Given the description of an element on the screen output the (x, y) to click on. 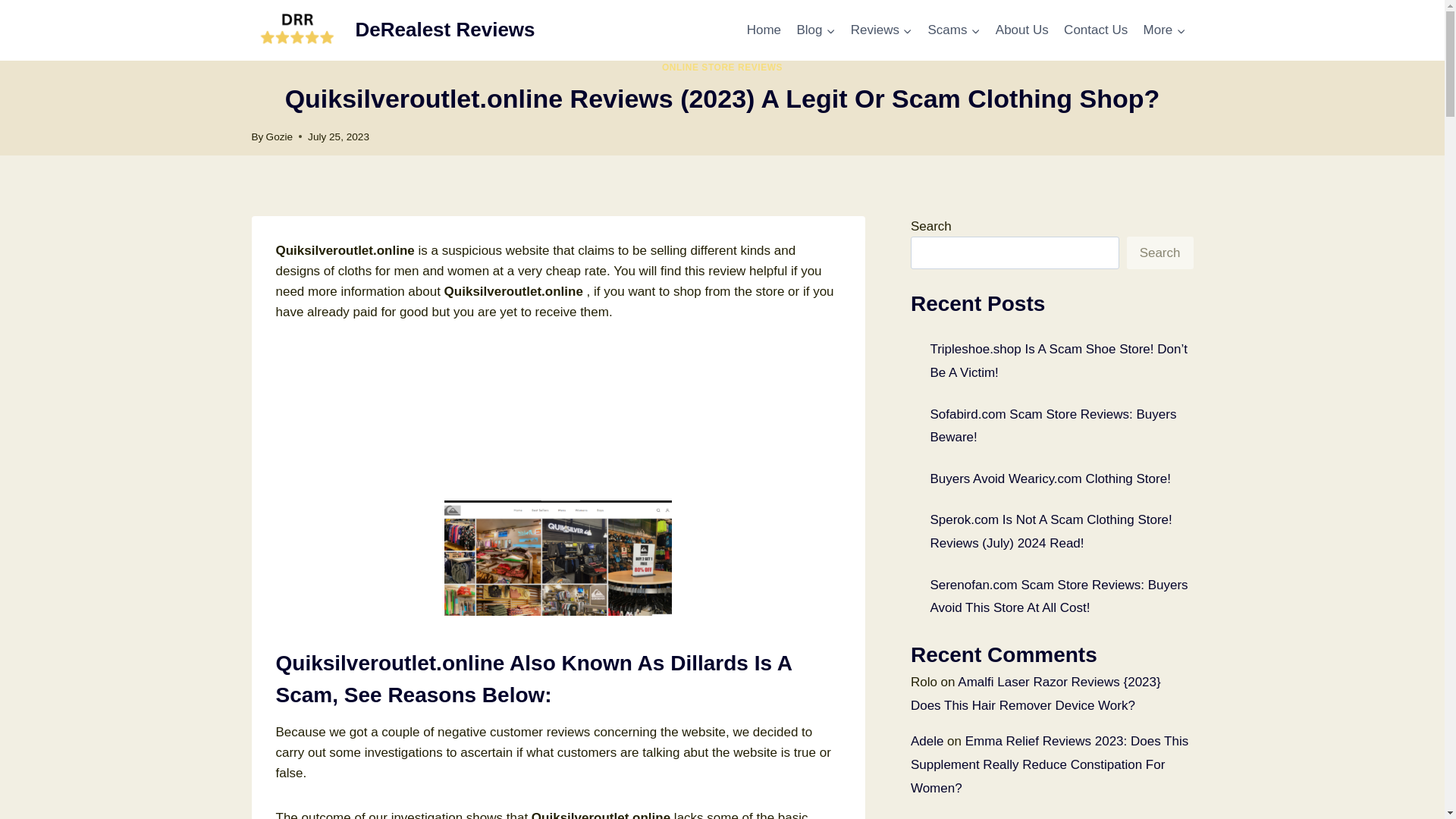
Contact Us (1096, 30)
About Us (1022, 30)
Scams (953, 30)
More (1163, 30)
Reviews (881, 30)
Home (763, 30)
ONLINE STORE REVIEWS (722, 67)
DeRealest Reviews (393, 30)
Advertisement (558, 417)
Gozie (280, 136)
